Given the description of an element on the screen output the (x, y) to click on. 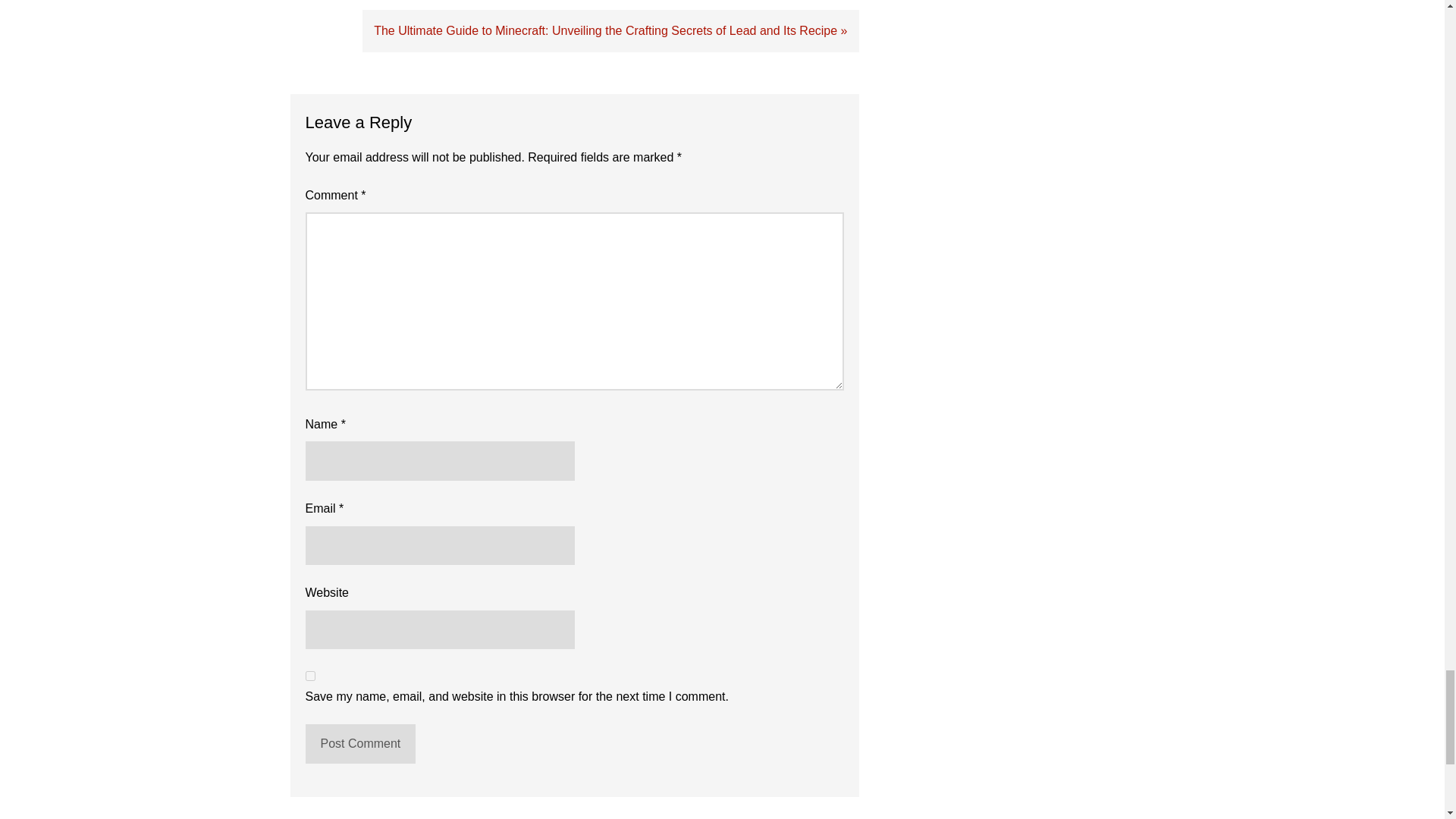
yes (309, 675)
Post Comment (359, 743)
